Given the description of an element on the screen output the (x, y) to click on. 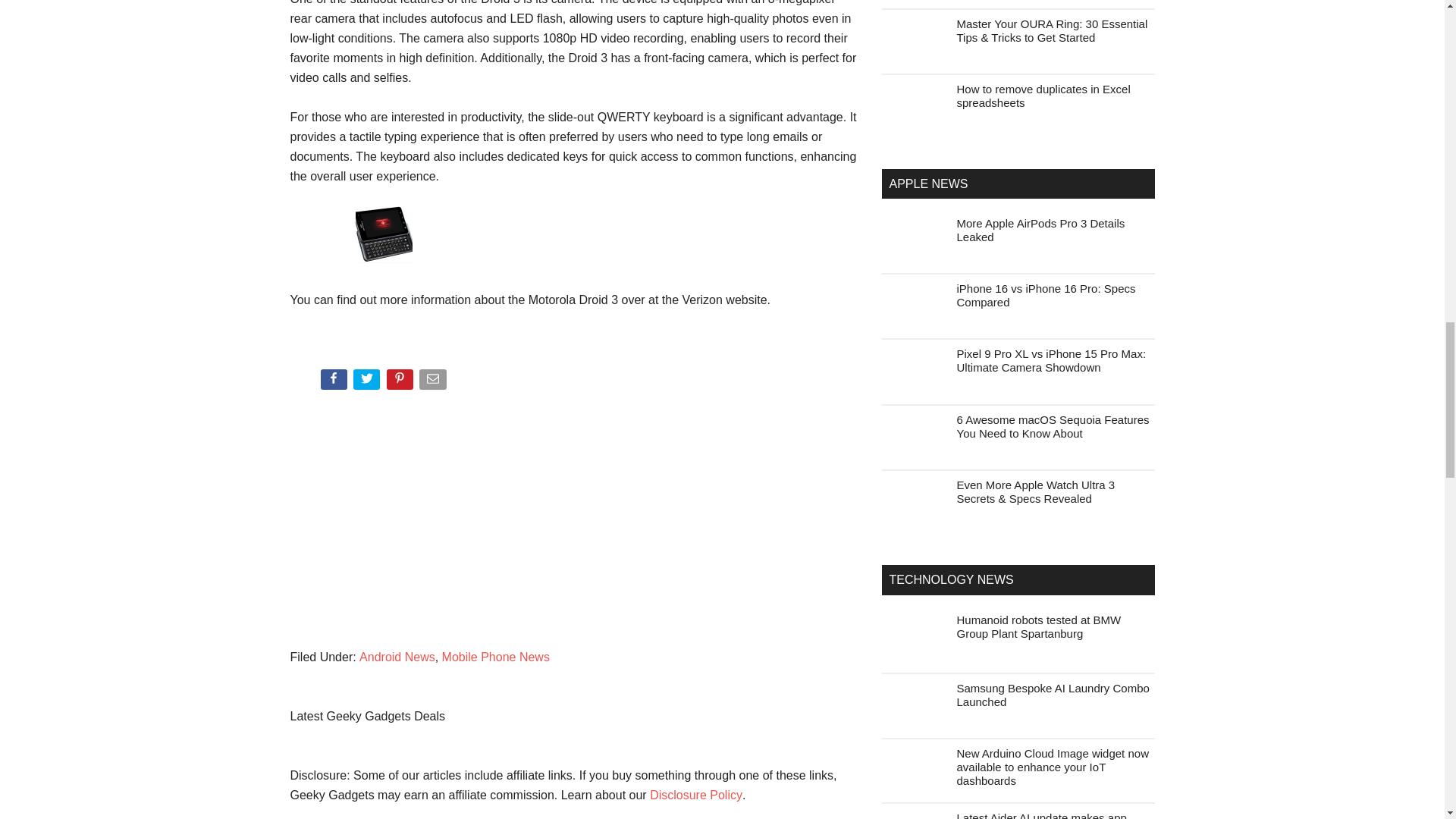
Disclosure Policy (695, 794)
Share on Facebook (334, 382)
Tweet (367, 382)
Email (433, 382)
Pin (401, 382)
Android News (397, 656)
Mobile Phone News (496, 656)
